Given the description of an element on the screen output the (x, y) to click on. 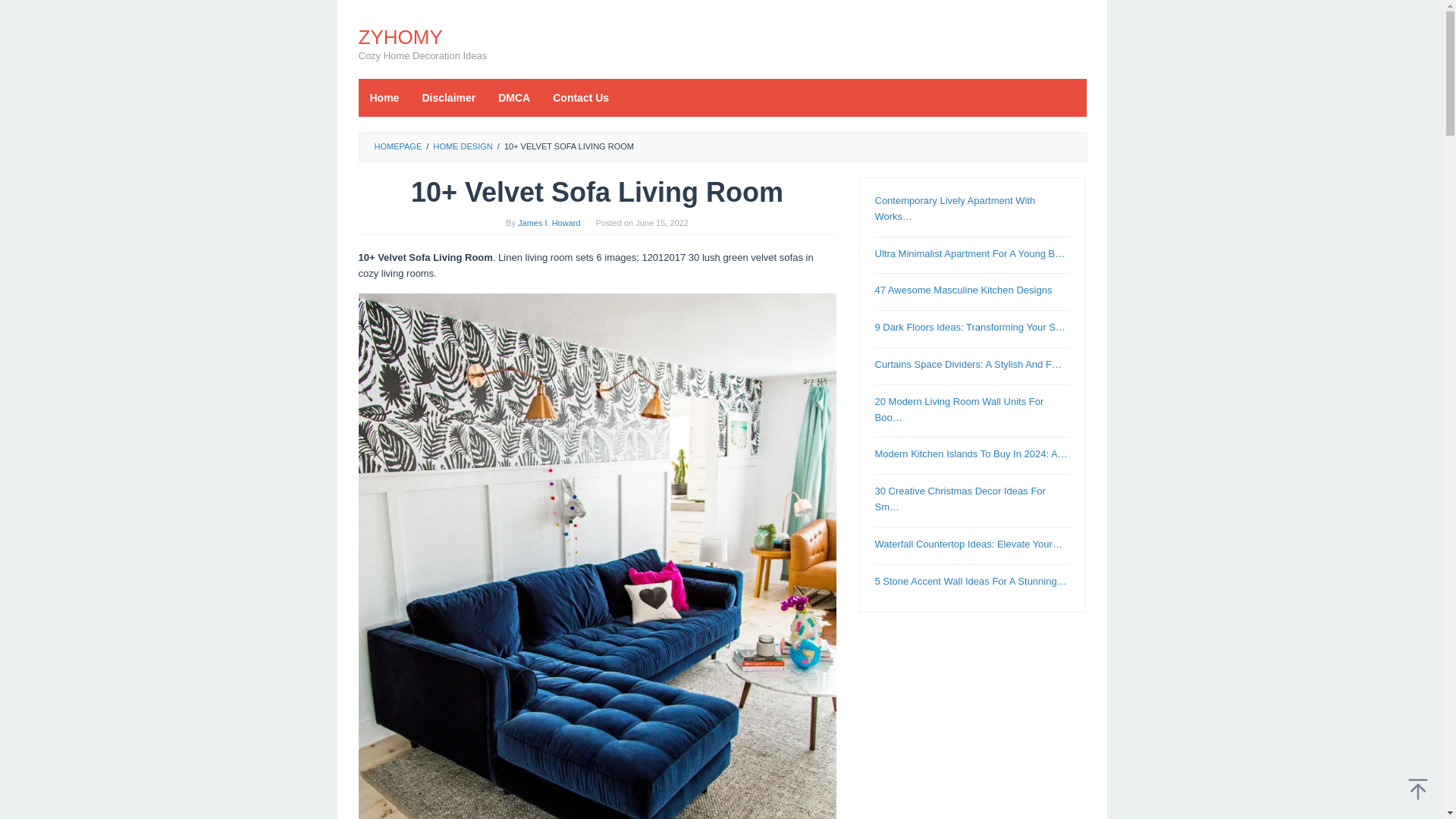
Home (384, 97)
Permalink to: James I. Howard (549, 222)
Contact Us (580, 97)
DMCA (513, 97)
HOME DESIGN (462, 145)
James I. Howard (549, 222)
ZYHOMY (400, 36)
Disclaimer (448, 97)
HOMEPAGE (398, 145)
47 Awesome Masculine Kitchen Designs (963, 289)
ZYHOMY (400, 36)
